Given the description of an element on the screen output the (x, y) to click on. 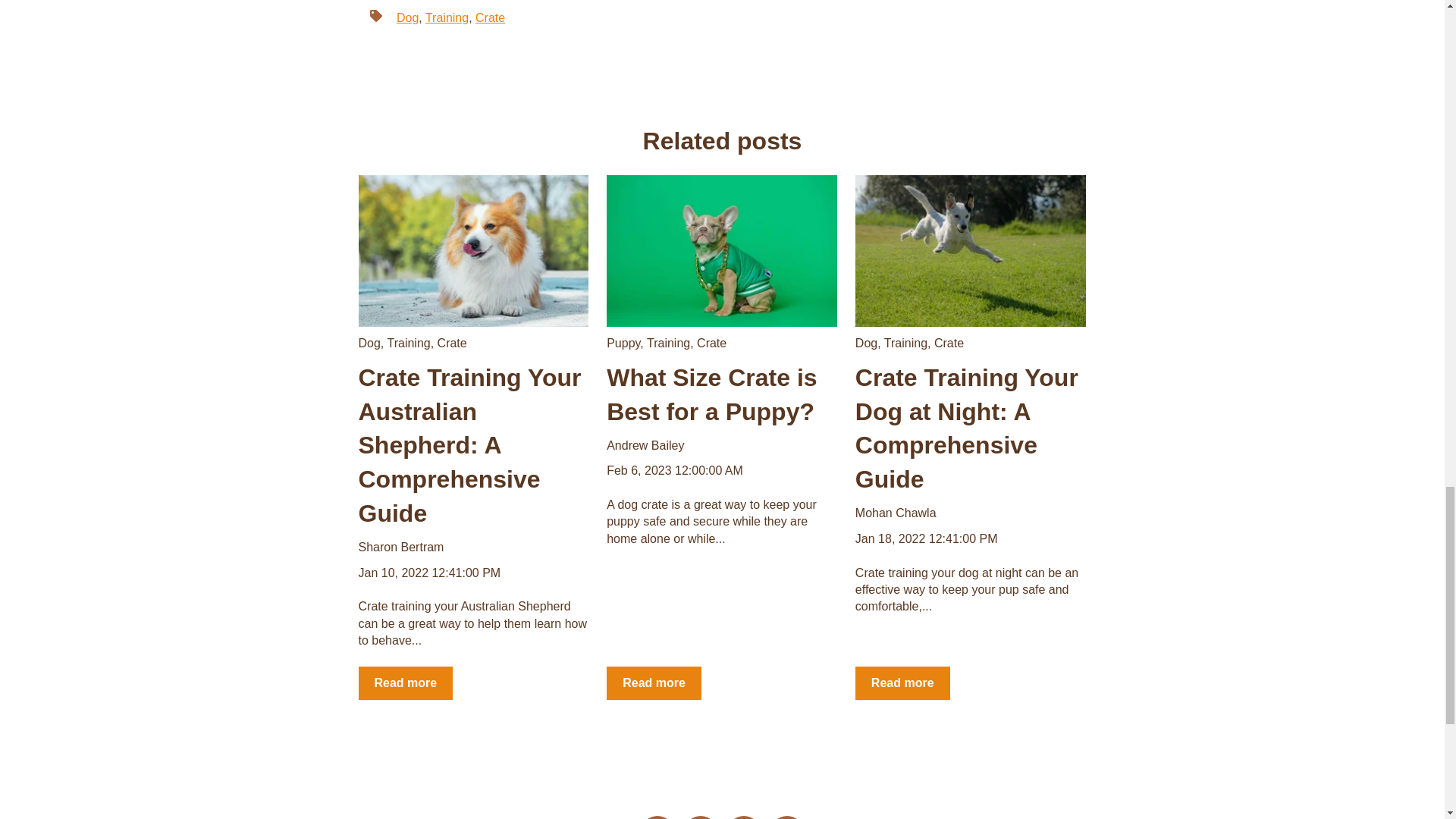
Dog (369, 342)
Crate (490, 17)
Training (446, 17)
Crate (452, 342)
Puppy (623, 342)
Read more (405, 683)
Dog (407, 17)
Training (408, 342)
Training (668, 342)
Sharon Bertram (401, 547)
